Given the description of an element on the screen output the (x, y) to click on. 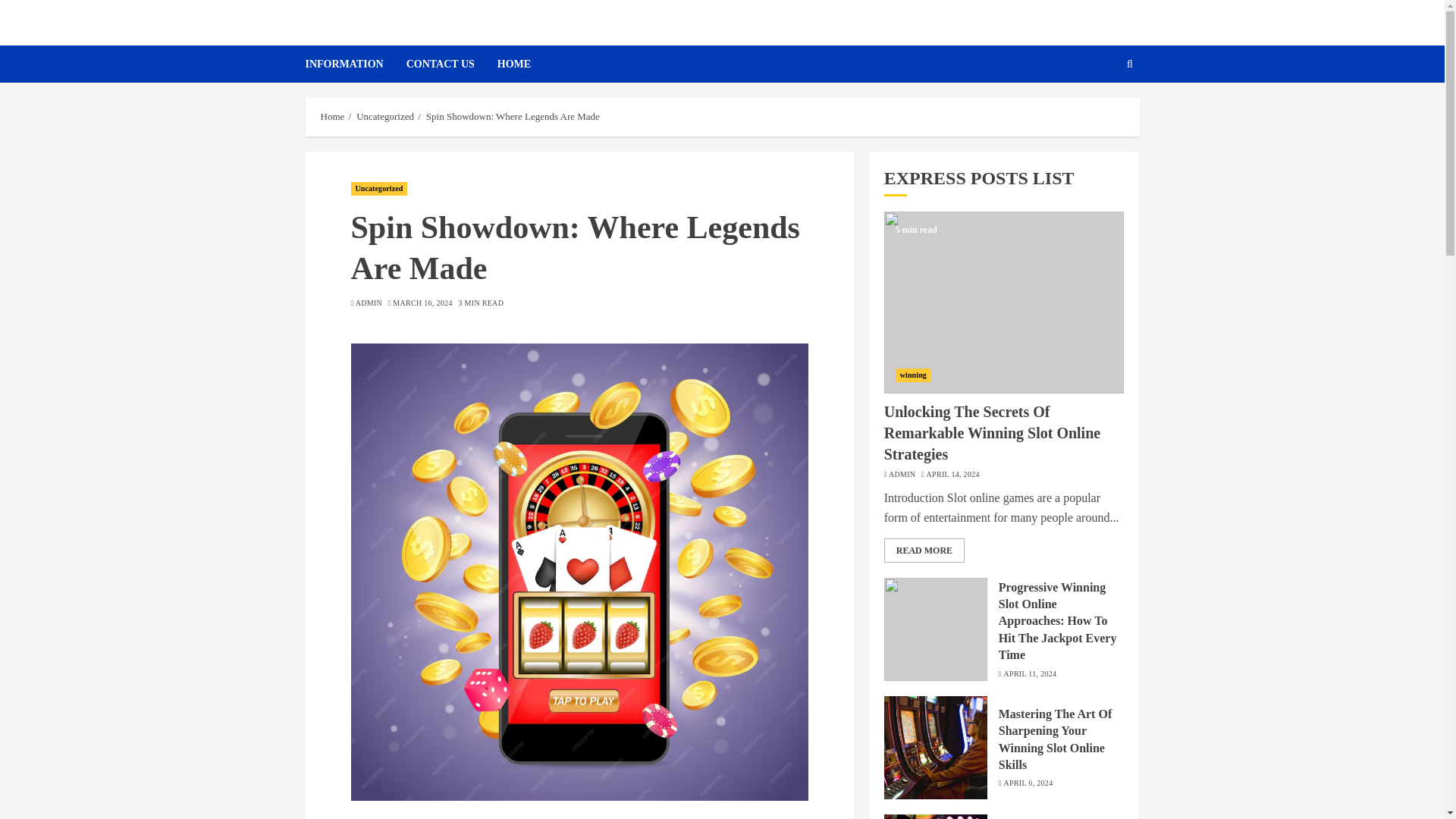
Uncategorized (378, 188)
READ MORE (923, 550)
ADMIN (901, 474)
HOME (514, 63)
Spin Showdown: Where Legends Are Made (512, 116)
Search (1130, 63)
MARCH 16, 2024 (422, 303)
winning (913, 375)
Uncategorized (384, 116)
ADMIN (368, 303)
CONTACT US (451, 63)
APRIL 14, 2024 (952, 474)
Home (331, 116)
INFORMATION (355, 63)
